Given the description of an element on the screen output the (x, y) to click on. 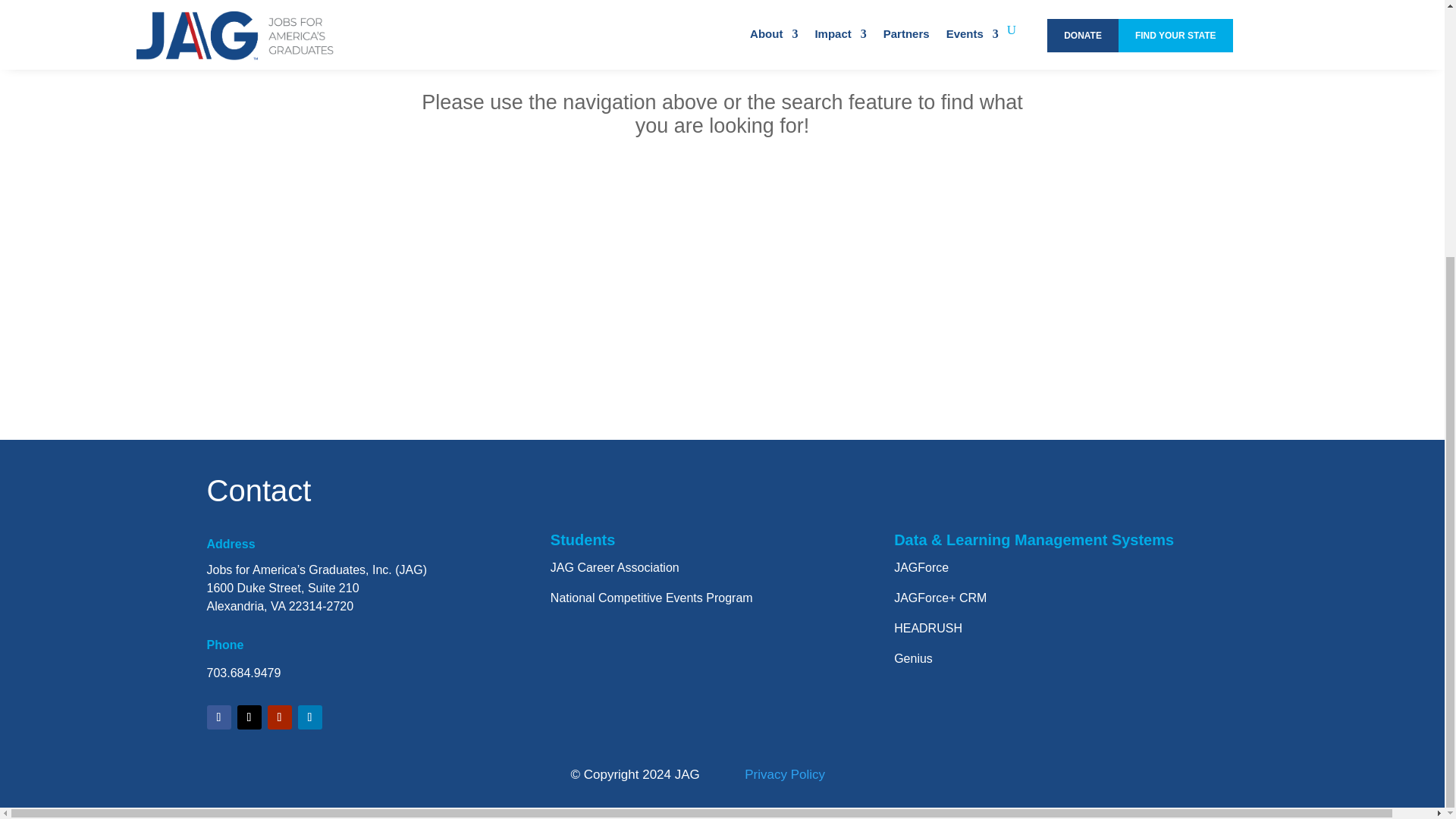
Follow on Facebook (218, 717)
Follow on Youtube (278, 717)
Follow on X (247, 717)
Follow on LinkedIn (309, 717)
